Given the description of an element on the screen output the (x, y) to click on. 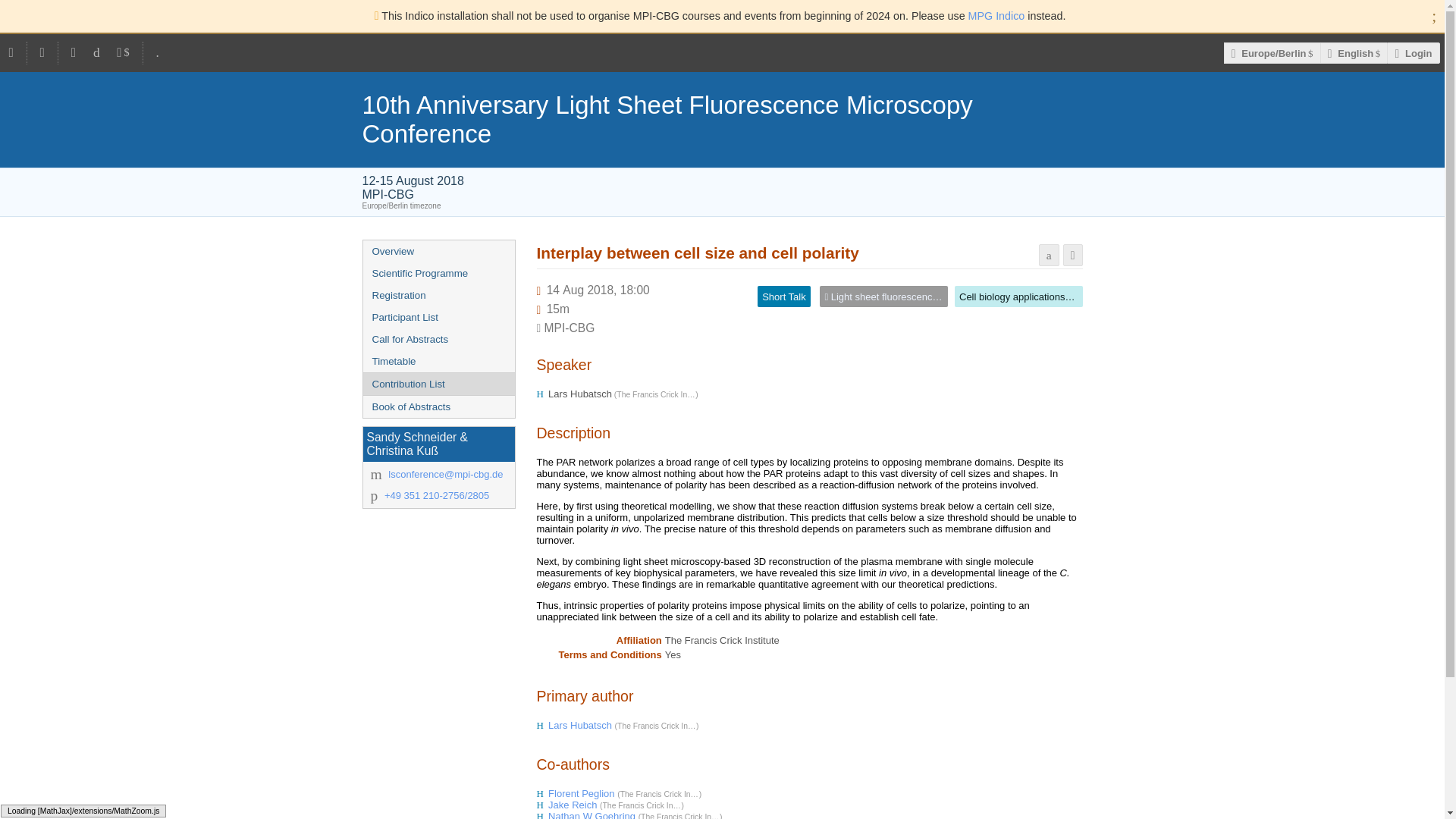
Call for Abstracts (437, 339)
Participant List (437, 317)
Timetable (437, 361)
Book of Abstracts (437, 406)
Registration (437, 295)
Login (1413, 53)
English (1353, 53)
Duration (558, 308)
Cell biology applications of light sheet microcopy (1065, 296)
Scientific Programme (437, 273)
MPG Indico (996, 15)
Contribution List (437, 383)
Lars Hubatsch (581, 725)
Overview (437, 251)
